Given the description of an element on the screen output the (x, y) to click on. 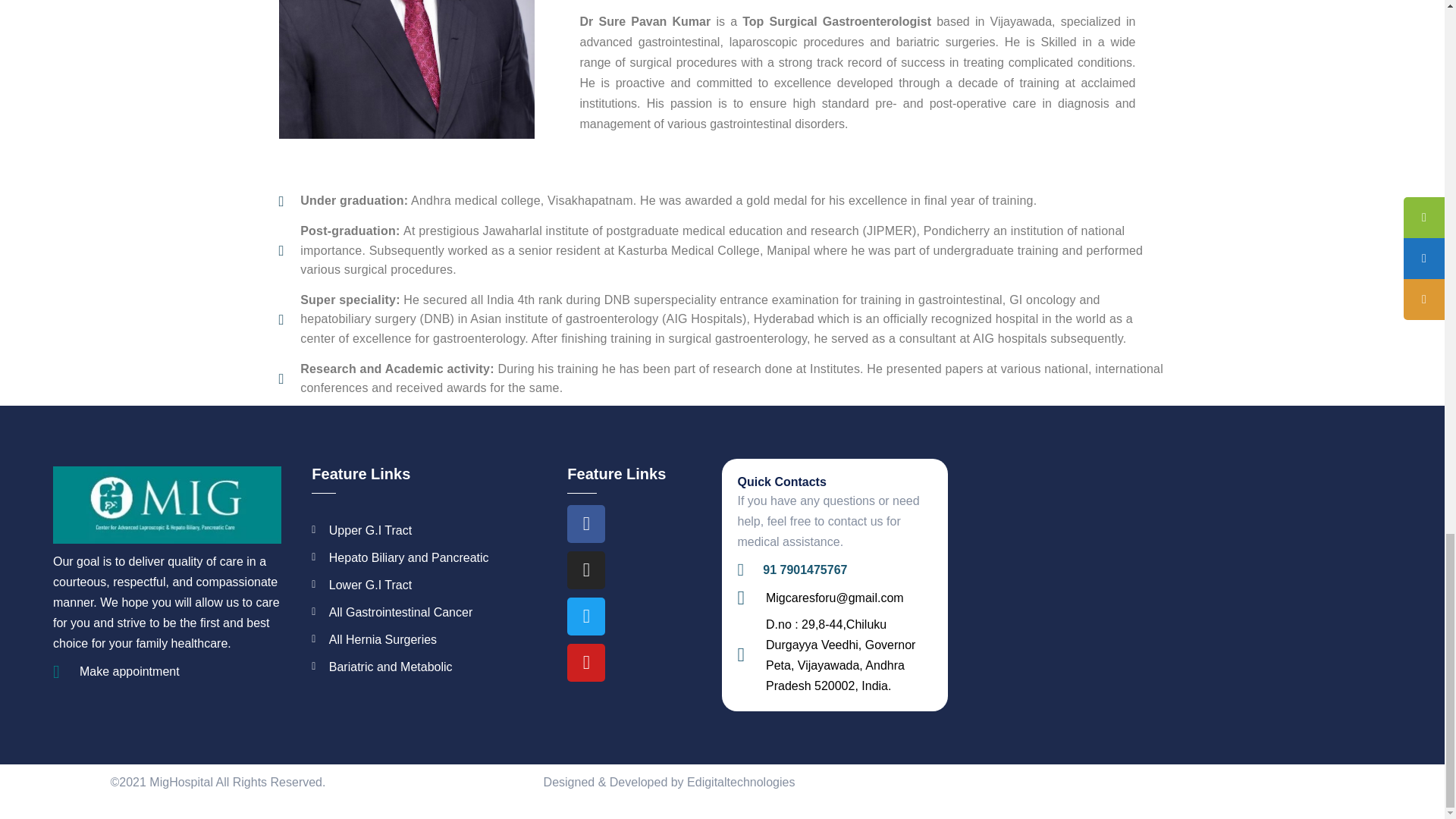
All Gastrointestinal Cancer (431, 611)
Upper G.I Tract (431, 530)
Lower G.I Tract (431, 584)
All Hernia Surgeries (431, 639)
Top Surgical Gastroenterologist (836, 21)
Bariatric and Metabolic (431, 666)
Make appointment (166, 670)
Hepato Biliary and Pancreatic (431, 557)
